Given the description of an element on the screen output the (x, y) to click on. 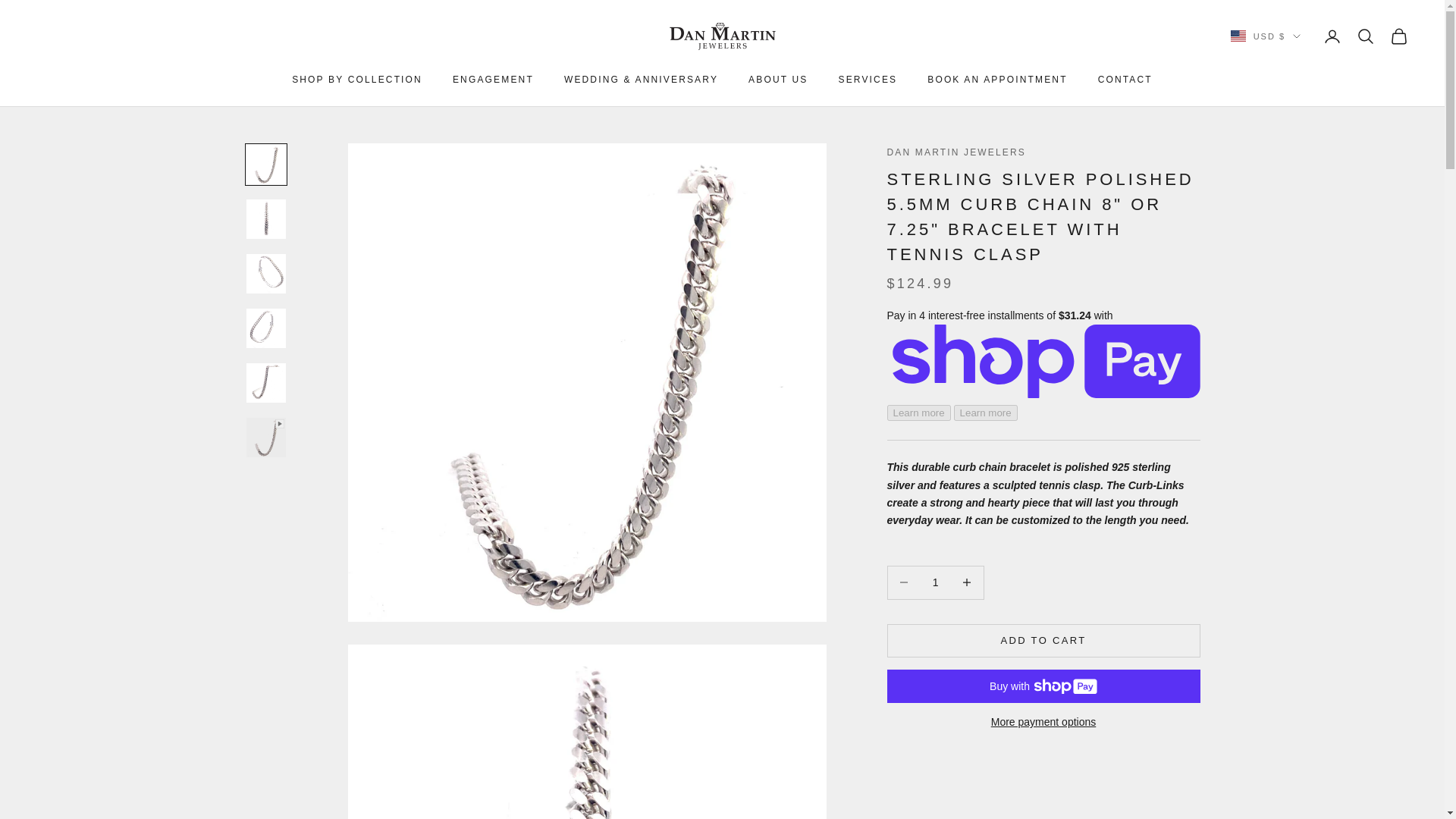
1 (935, 582)
ENGAGEMENT (493, 79)
BOOK AN APPOINTMENT (997, 79)
Dan Martin Jewelers (721, 36)
ABOUT US (778, 79)
CONTACT (1125, 79)
